Given the description of an element on the screen output the (x, y) to click on. 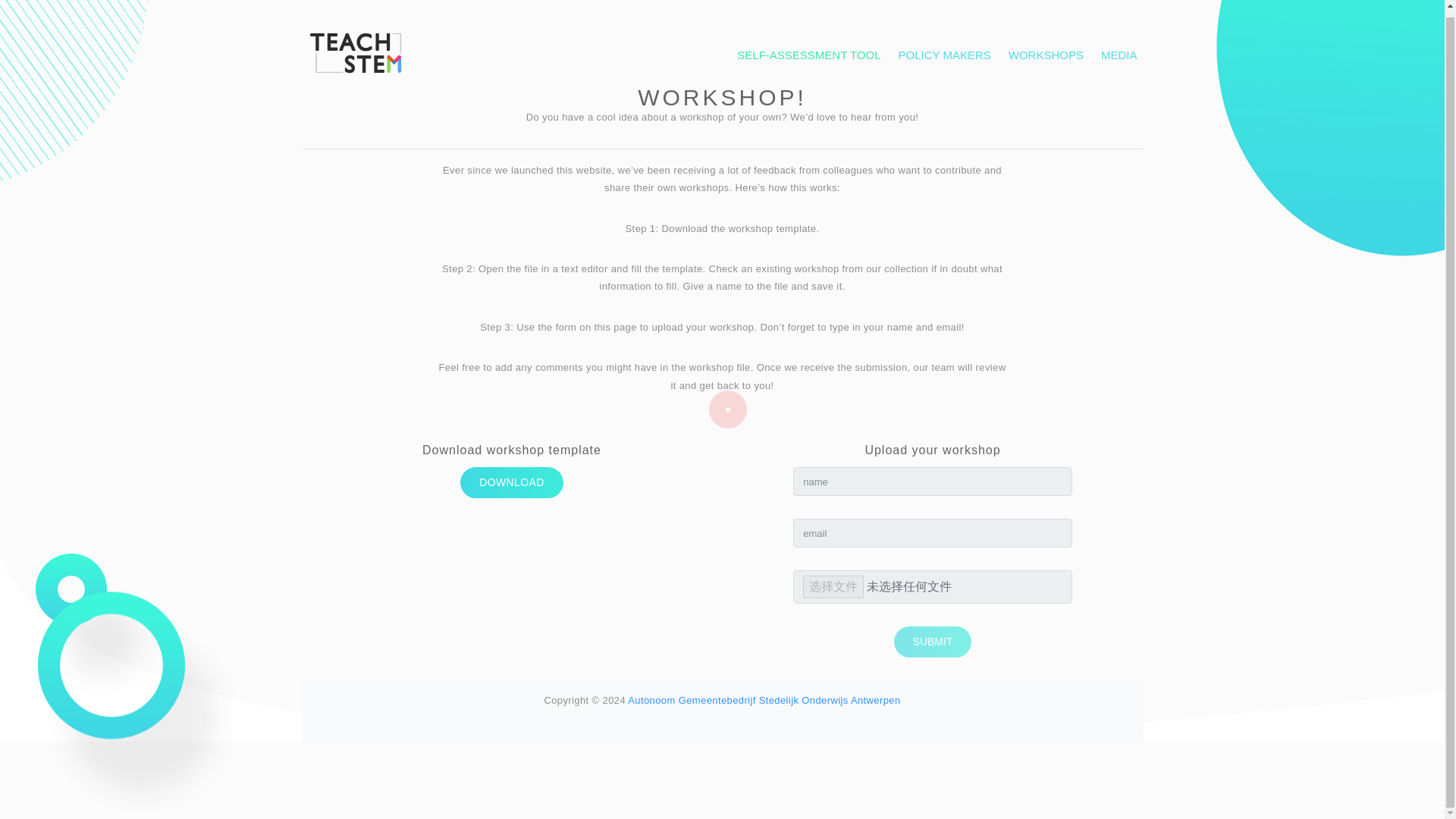
MEDIA (1118, 49)
submit (932, 641)
submit (932, 641)
DOWNLOAD (511, 481)
POLICY MAKERS (944, 49)
Autonoom Gemeentebedrijf Stedelijk Onderwijs Antwerpen (763, 699)
WORKSHOPS (1046, 49)
SELF-ASSESSMENT TOOL (808, 49)
